Given the description of an element on the screen output the (x, y) to click on. 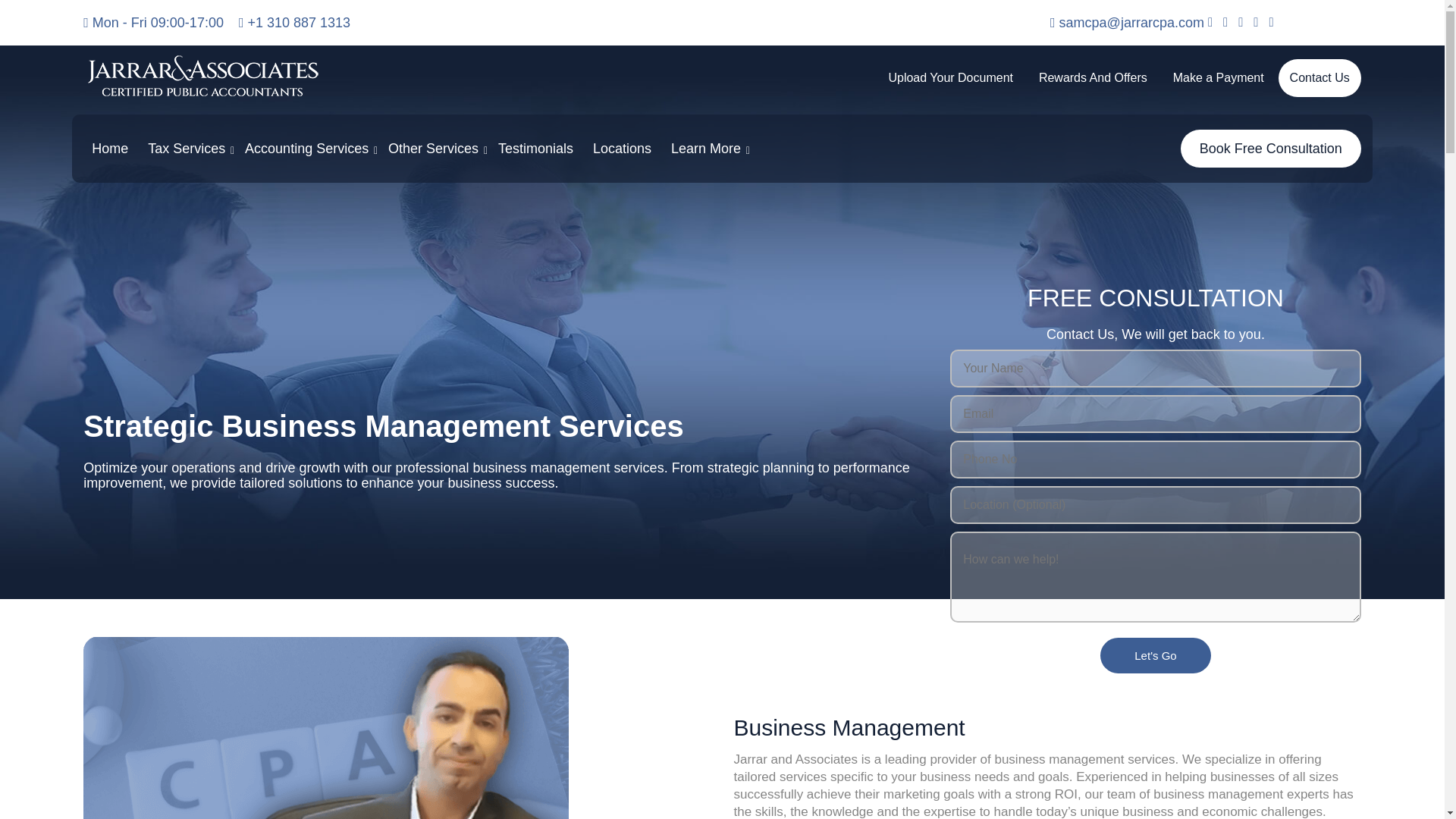
Accounting Services (306, 148)
Rewards And Offers (1092, 77)
Other Services (433, 148)
Learn More (705, 148)
Contact Us (1319, 77)
Upload Your Document (950, 77)
Make a Payment (1218, 77)
Tax Services (185, 148)
Book Free Consultation (1270, 148)
Let's Go (1154, 655)
